Given the description of an element on the screen output the (x, y) to click on. 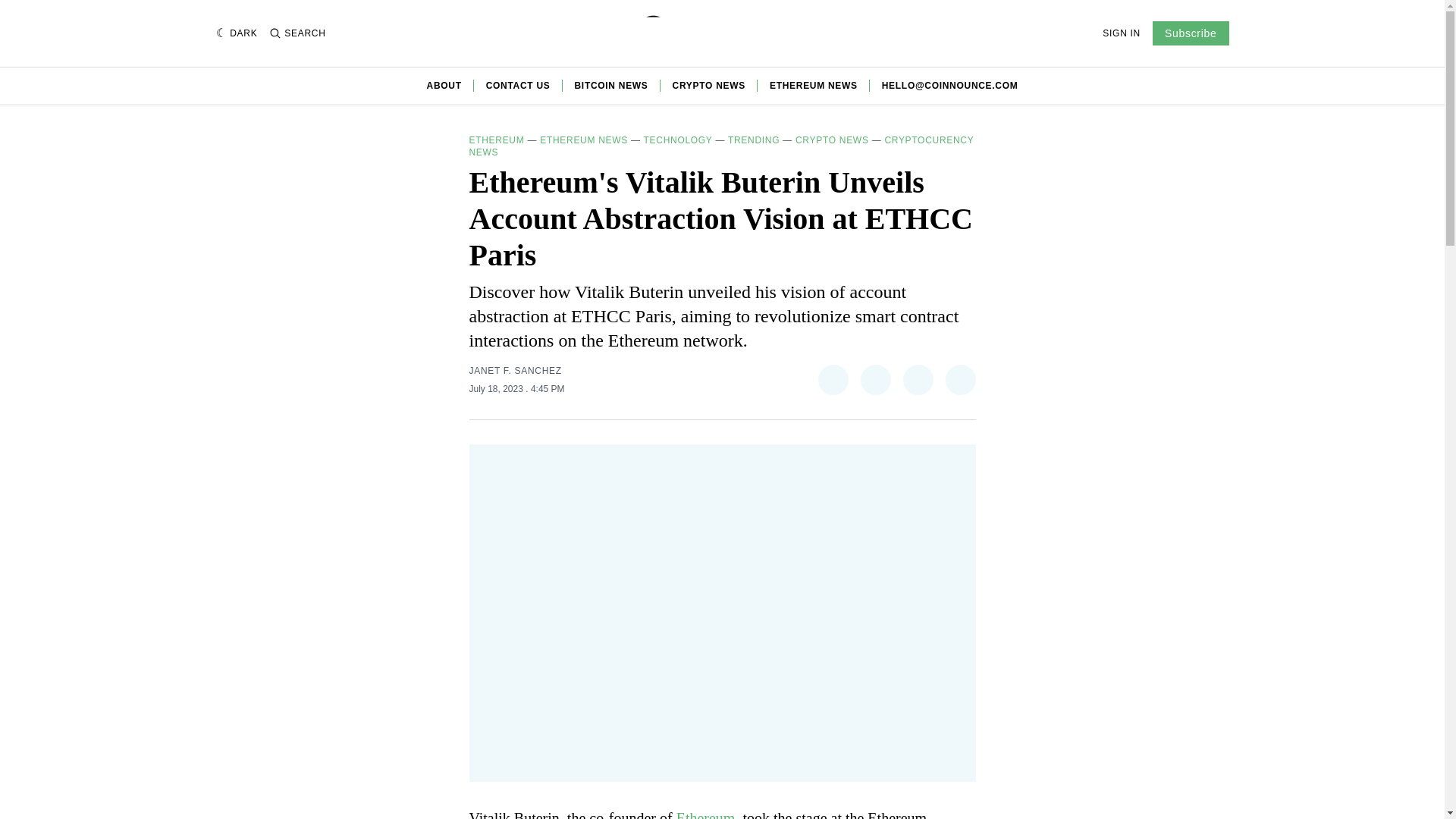
Share via Email (959, 379)
ETHEREUM (496, 140)
CONTACT US (518, 85)
BITCOIN NEWS (611, 85)
CRYPTOCURENCY NEWS (721, 146)
TECHNOLOGY (678, 140)
SEARCH (296, 33)
ETHEREUM NEWS (813, 85)
Dark (236, 32)
Share on Facebook (874, 379)
CRYPTO NEWS (831, 140)
TRENDING (753, 140)
DARK (236, 32)
CRYPTO NEWS (708, 85)
Subscribe (1190, 33)
